Given the description of an element on the screen output the (x, y) to click on. 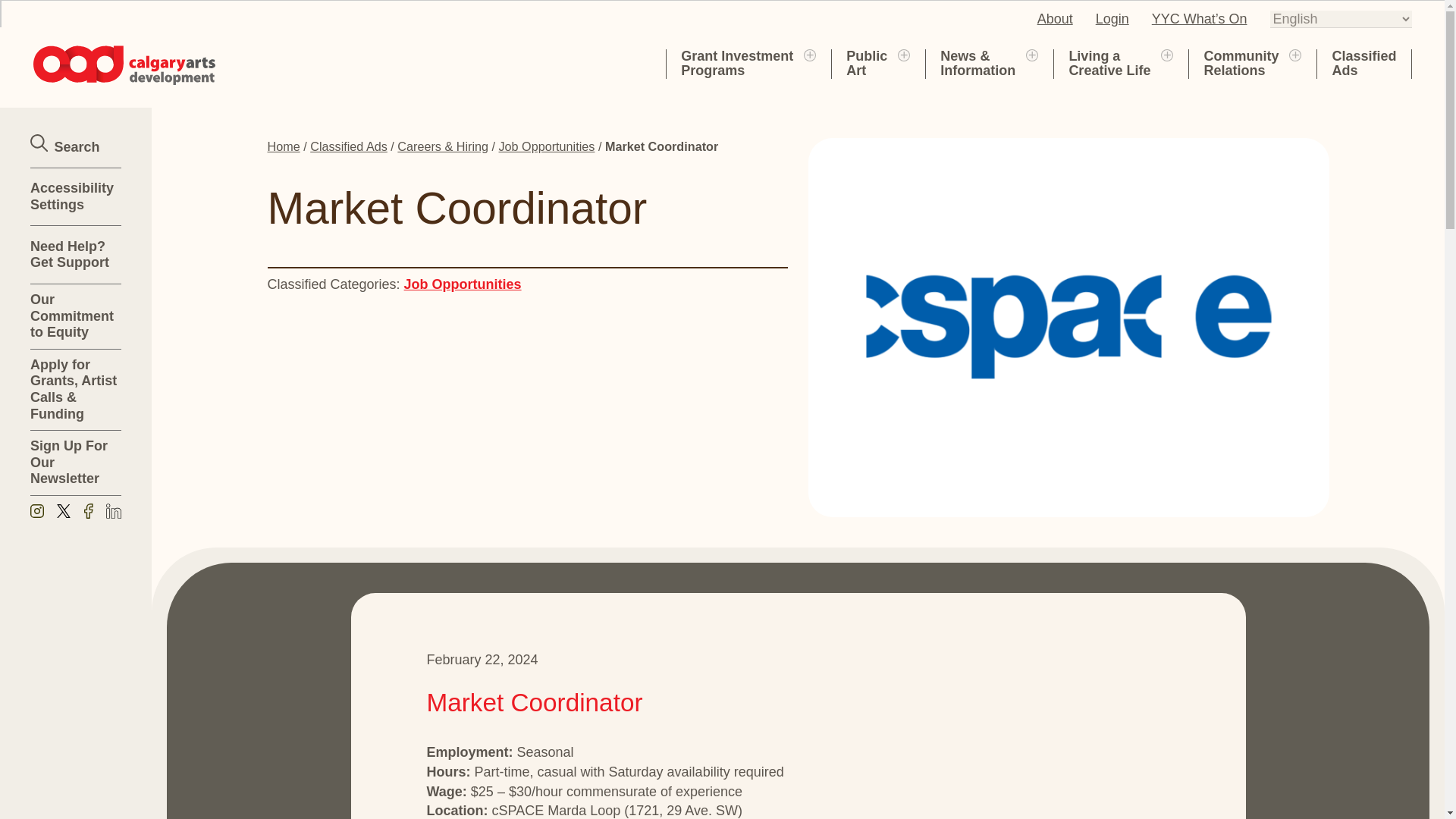
About (1109, 63)
Login (1054, 17)
Expand Public Art Submenu (865, 63)
Job Opportunities (1112, 17)
Expand Community Relations Submenu (904, 54)
Expand Grant Investment Programs Submenu (462, 283)
Expand Living a Creative Life Submenu (1294, 54)
